Given the description of an element on the screen output the (x, y) to click on. 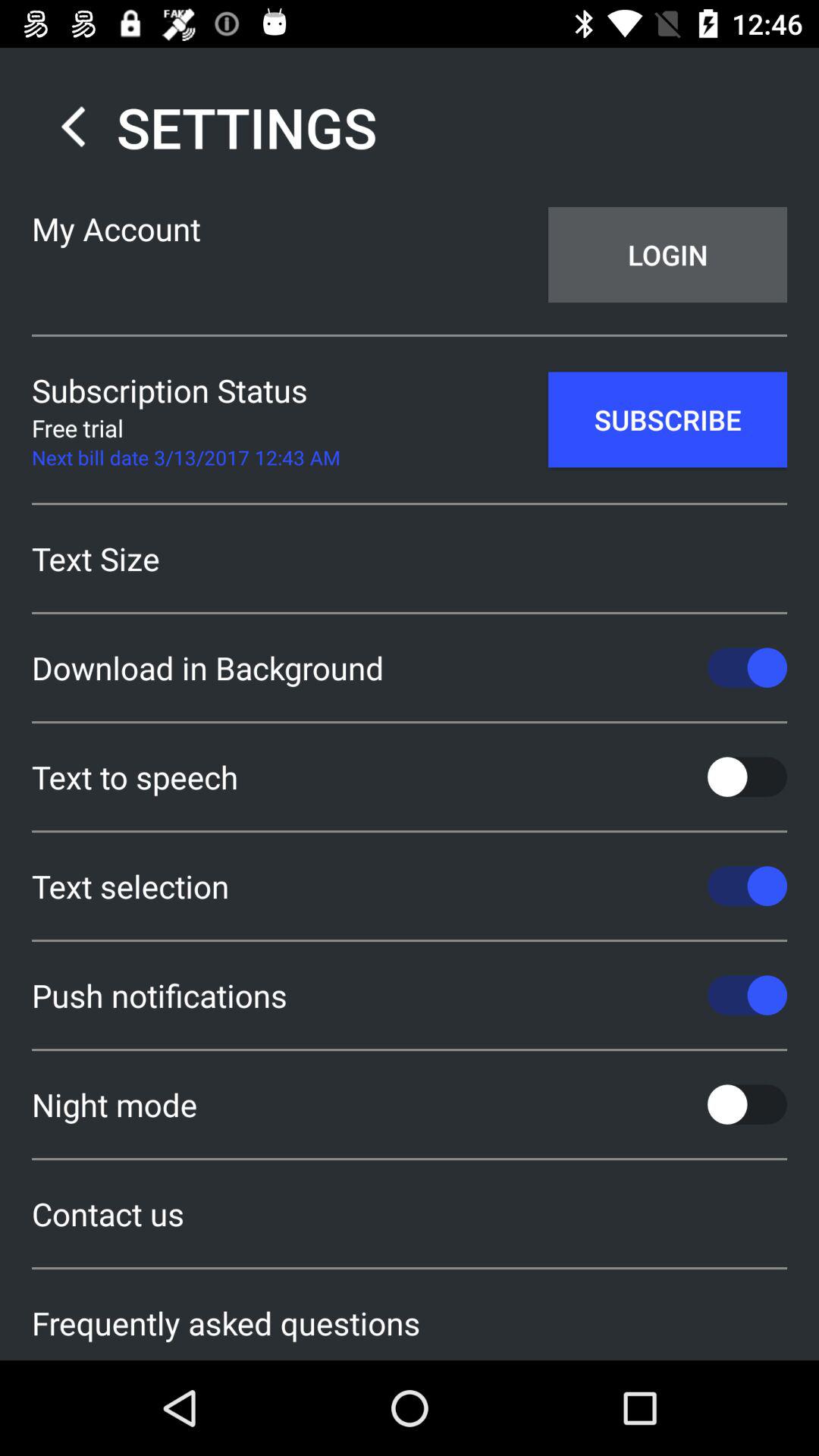
turn off app next to my account app (667, 254)
